Given the description of an element on the screen output the (x, y) to click on. 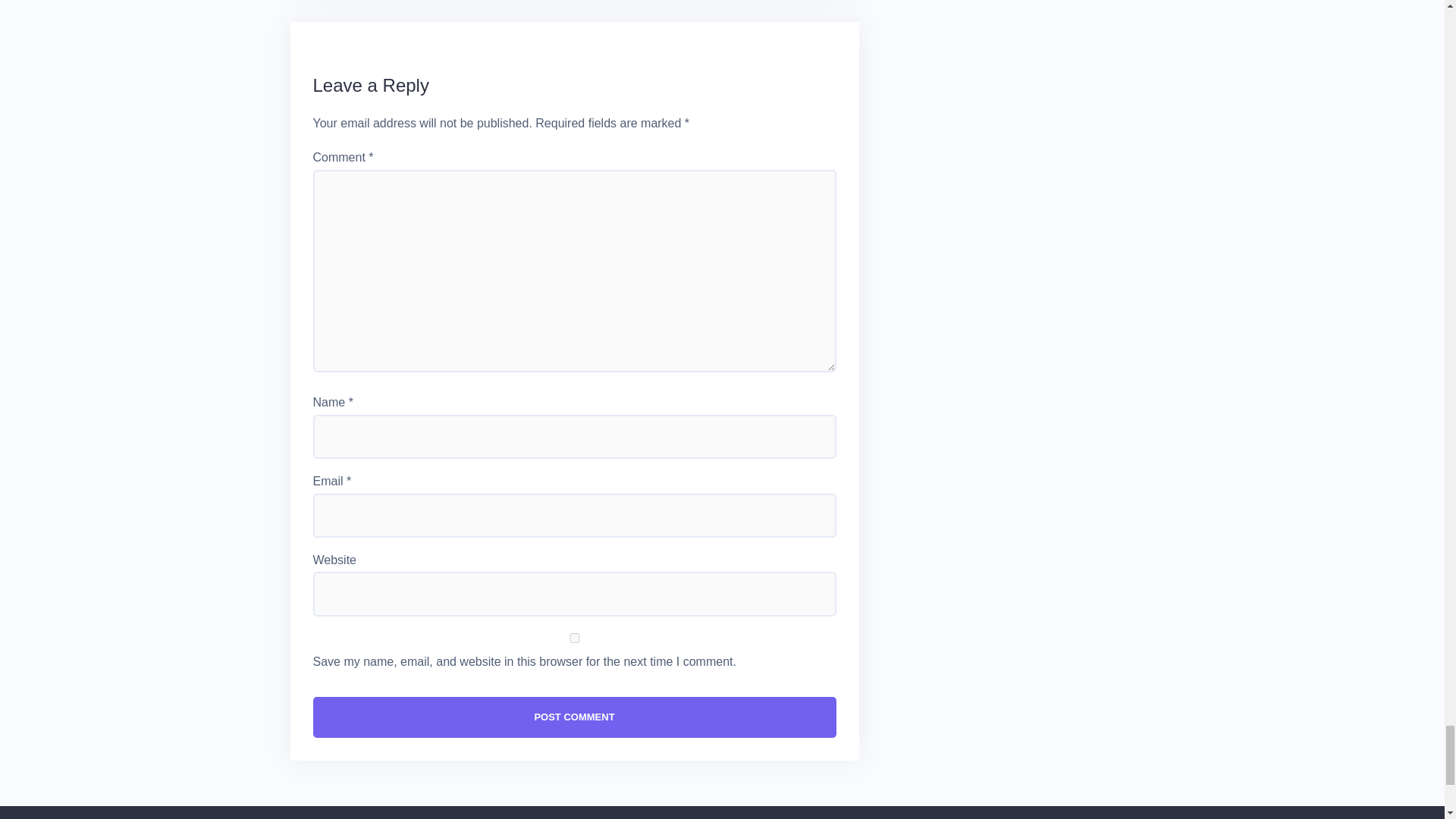
Post Comment (574, 716)
Post Comment (574, 716)
yes (574, 637)
